Given the description of an element on the screen output the (x, y) to click on. 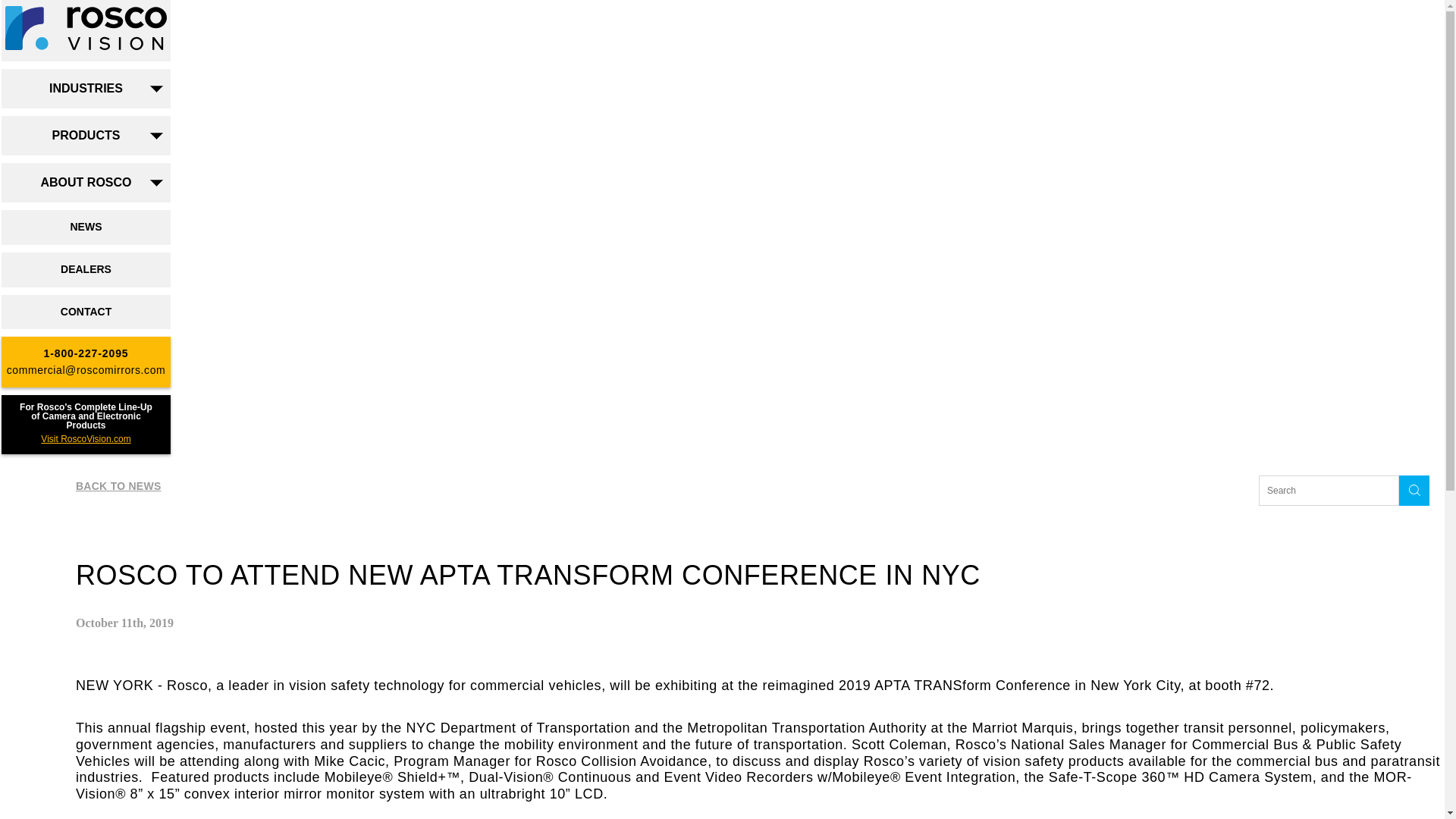
INDUSTRIES (85, 88)
